Given the description of an element on the screen output the (x, y) to click on. 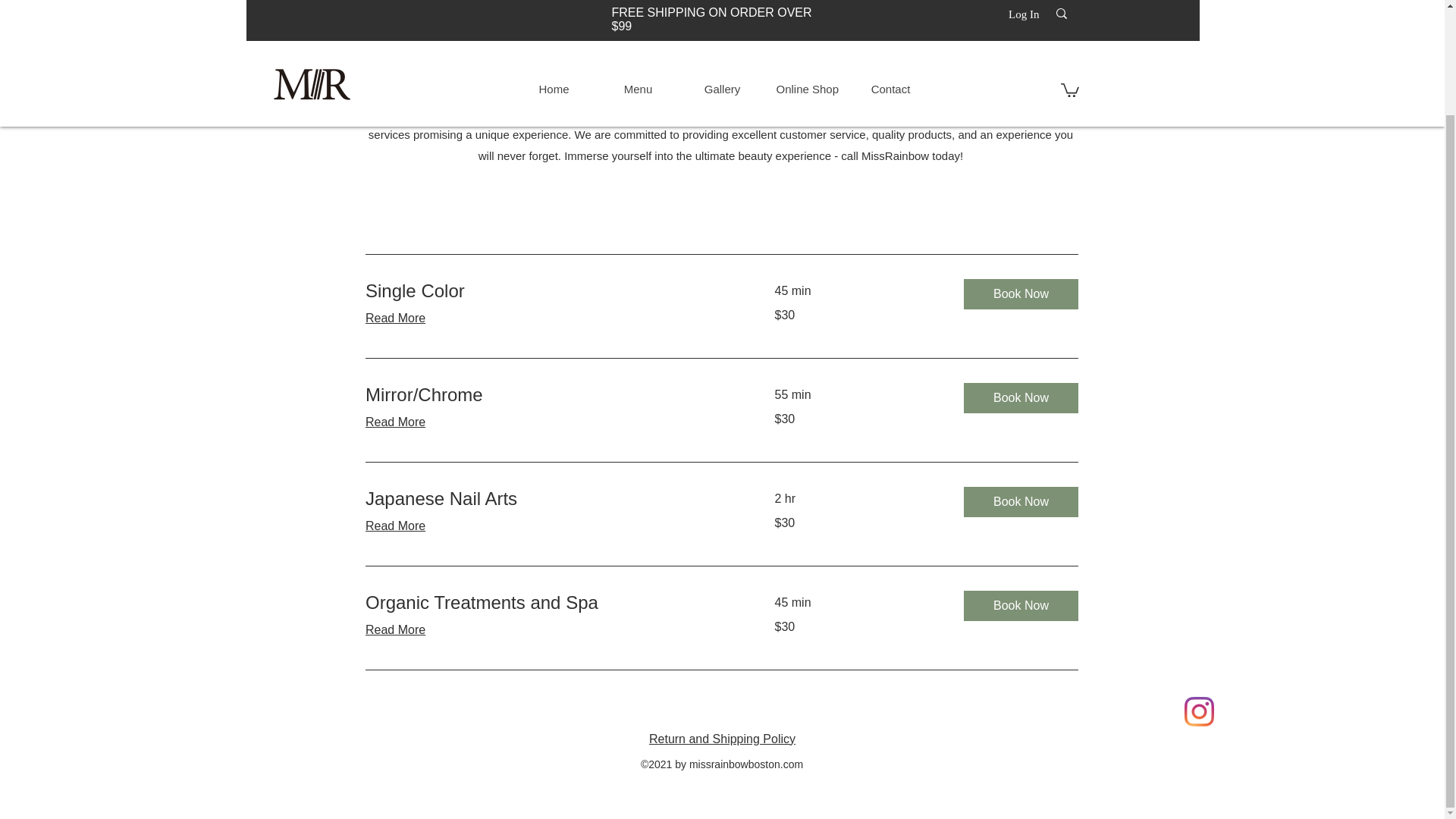
Read More (551, 629)
Return and Shipping Policy (721, 738)
Book Now (1019, 605)
Read More (551, 318)
Organic Treatments and Spa (551, 602)
Book Now (1019, 294)
Read More (551, 525)
Japanese Nail Arts (551, 498)
Read More (551, 422)
Book Now (1019, 501)
Single Color (551, 291)
Book Now (1019, 398)
